Given the description of an element on the screen output the (x, y) to click on. 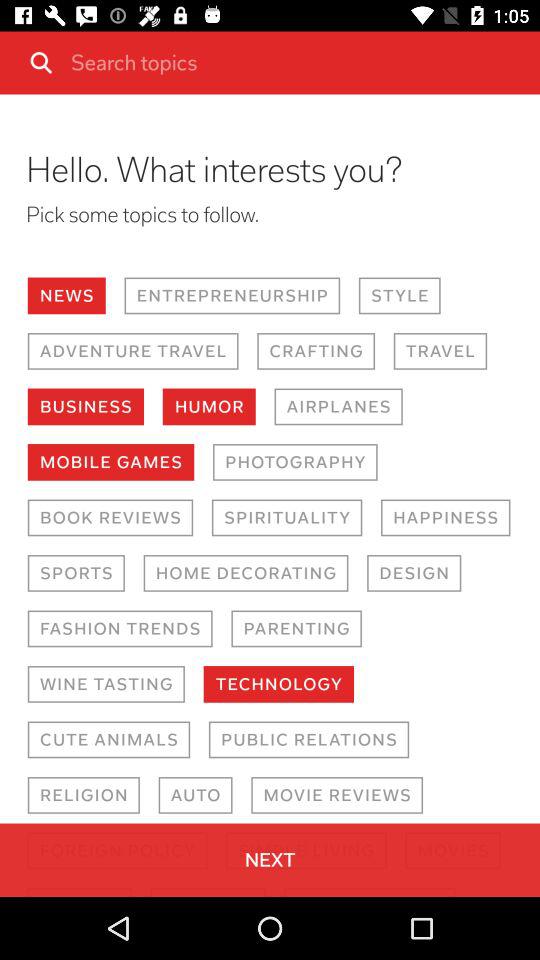
swipe to design item (414, 573)
